Given the description of an element on the screen output the (x, y) to click on. 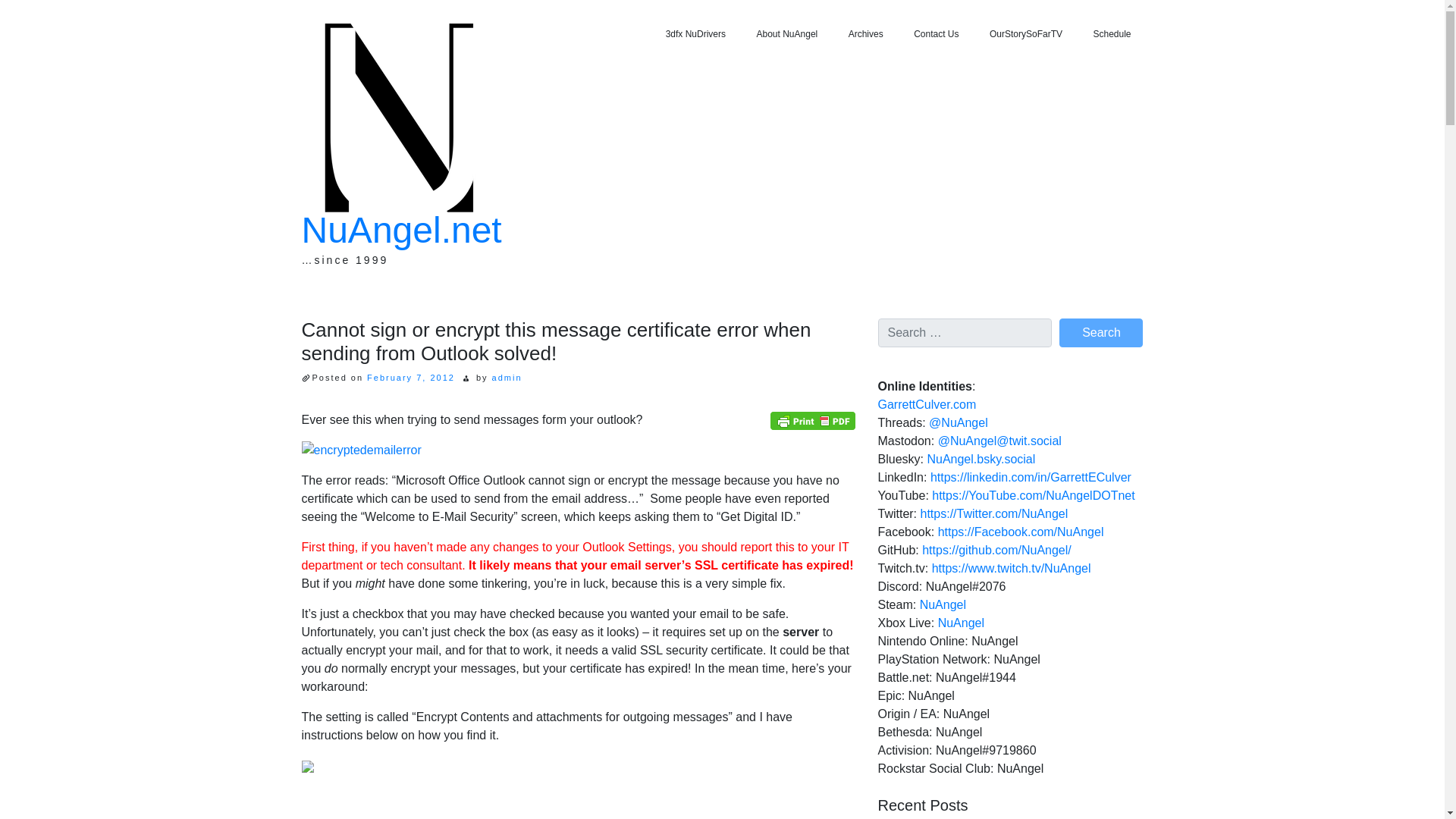
Search (1100, 332)
admin (507, 377)
3dfx NuDrivers (695, 33)
encryptedemailerror (361, 450)
Archives (865, 33)
Search (1100, 332)
February 7, 2012 (410, 377)
NuAngel (960, 622)
NuAngel (943, 604)
GarrettCulver.com (926, 404)
Schedule (1111, 33)
OurStorySoFarTV (1025, 33)
Contact Us (936, 33)
About NuAngel (786, 33)
NuAngel.bsky.social (980, 459)
